Given the description of an element on the screen output the (x, y) to click on. 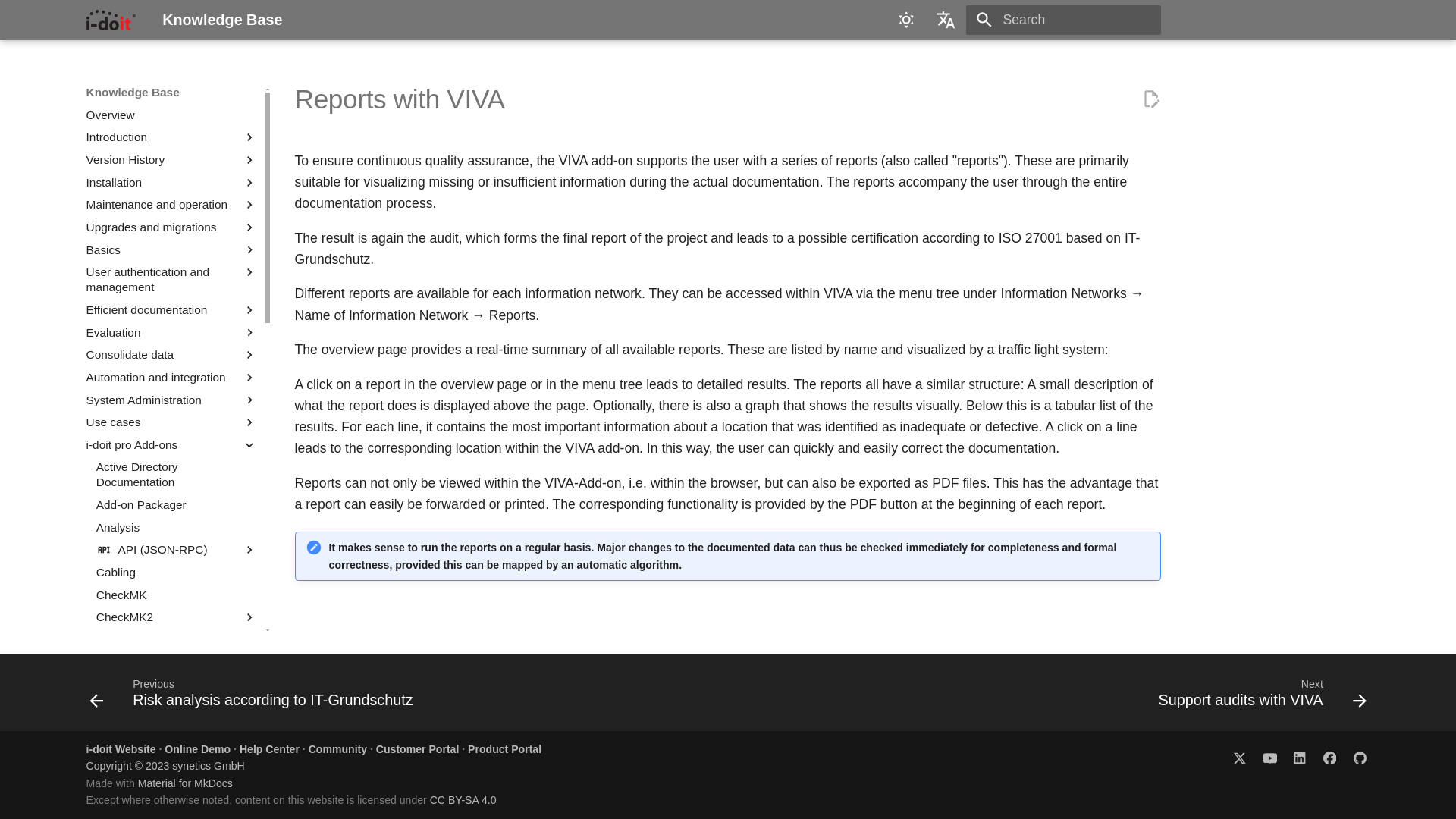
Creative Commons Attribution-ShareAlike 4.0 International (462, 799)
Edit this page (1150, 98)
Introduction (160, 136)
i-doit on LinkedIn (1299, 756)
Knowledge Base (111, 19)
i-doit on Facebook (1329, 756)
Version History (160, 159)
Switch to dark mode (906, 19)
i-doit on Twitter (1238, 756)
Overview (171, 114)
